Given the description of an element on the screen output the (x, y) to click on. 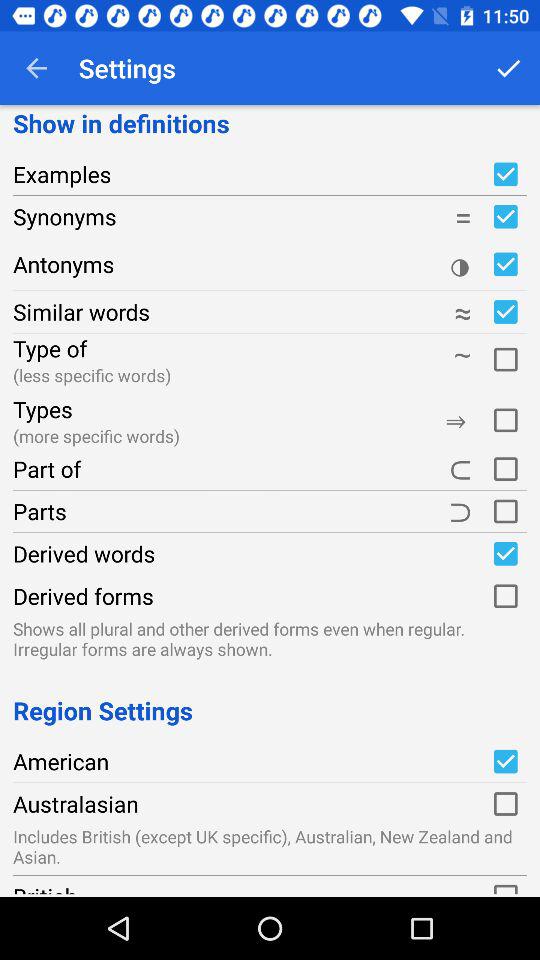
select this option (505, 804)
